Given the description of an element on the screen output the (x, y) to click on. 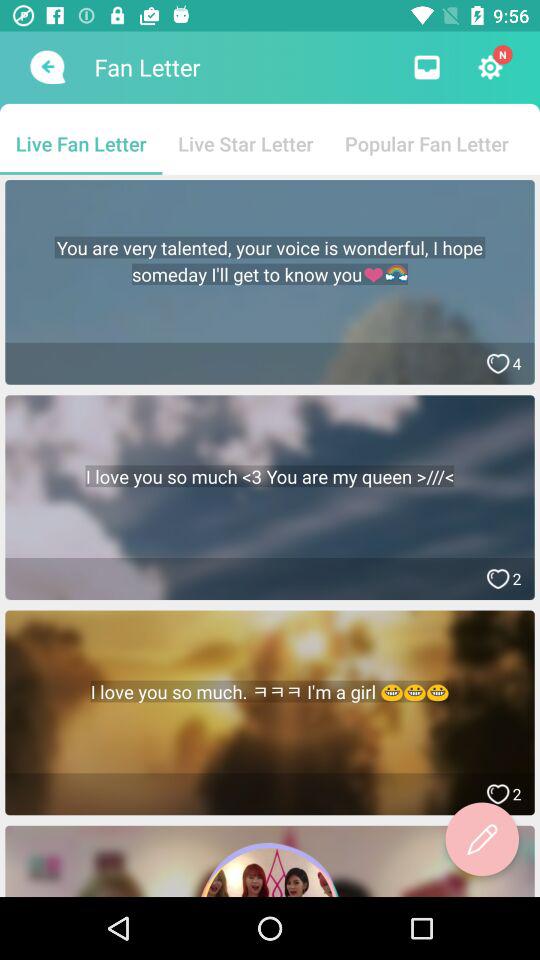
write (482, 839)
